Given the description of an element on the screen output the (x, y) to click on. 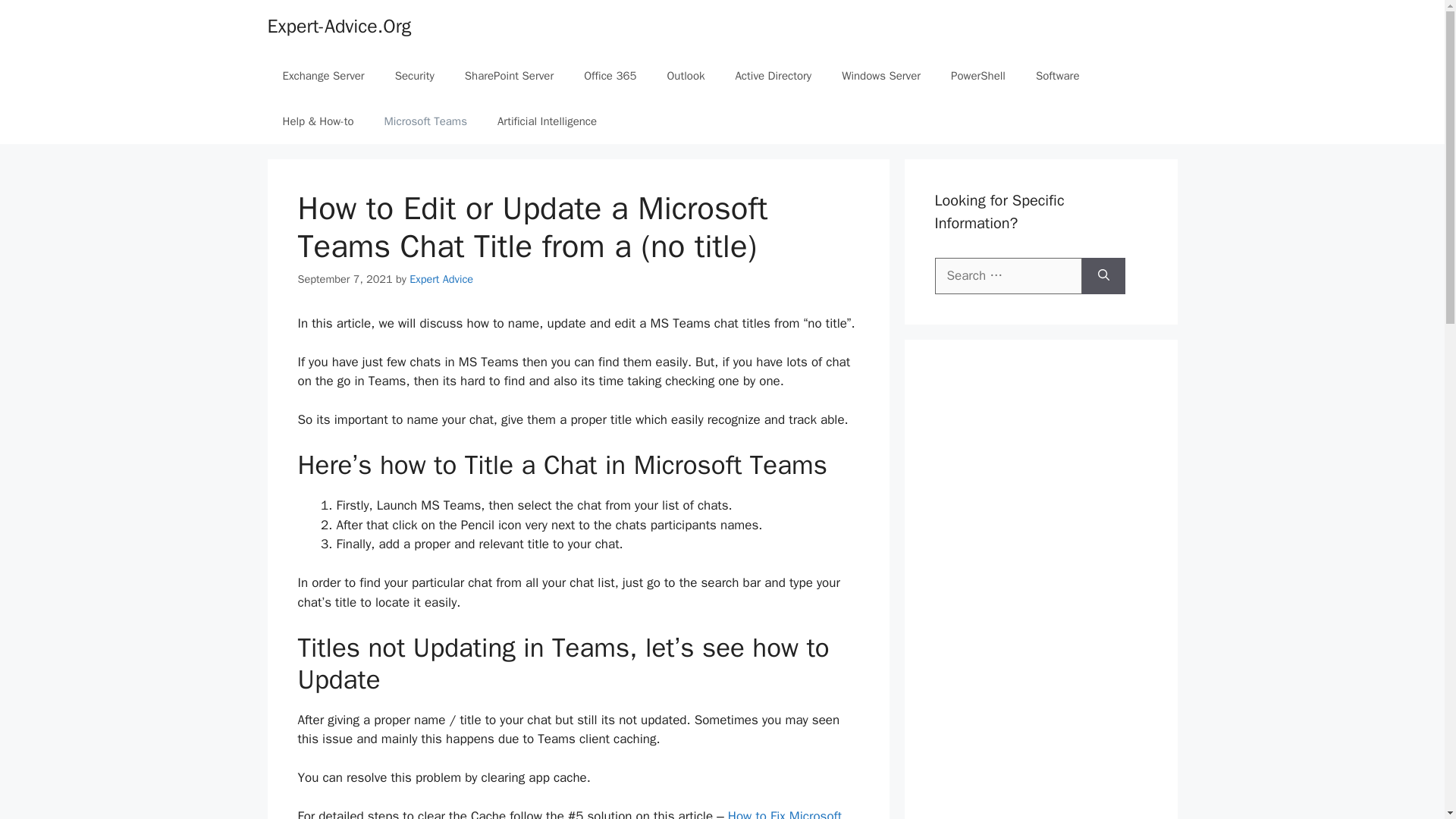
Outlook (684, 75)
How to Fix Microsoft Teams Start Recording Button Grayed Out (569, 813)
Office 365 (609, 75)
Security (414, 75)
PowerShell (978, 75)
Expert-Advice.Org (338, 25)
Active Directory (773, 75)
Microsoft Teams (425, 121)
Windows Server (881, 75)
Search for: (1007, 275)
Exchange Server (322, 75)
Artificial Intelligence (546, 121)
SharePoint Server (509, 75)
Software (1057, 75)
View all posts by Expert Advice (441, 278)
